Given the description of an element on the screen output the (x, y) to click on. 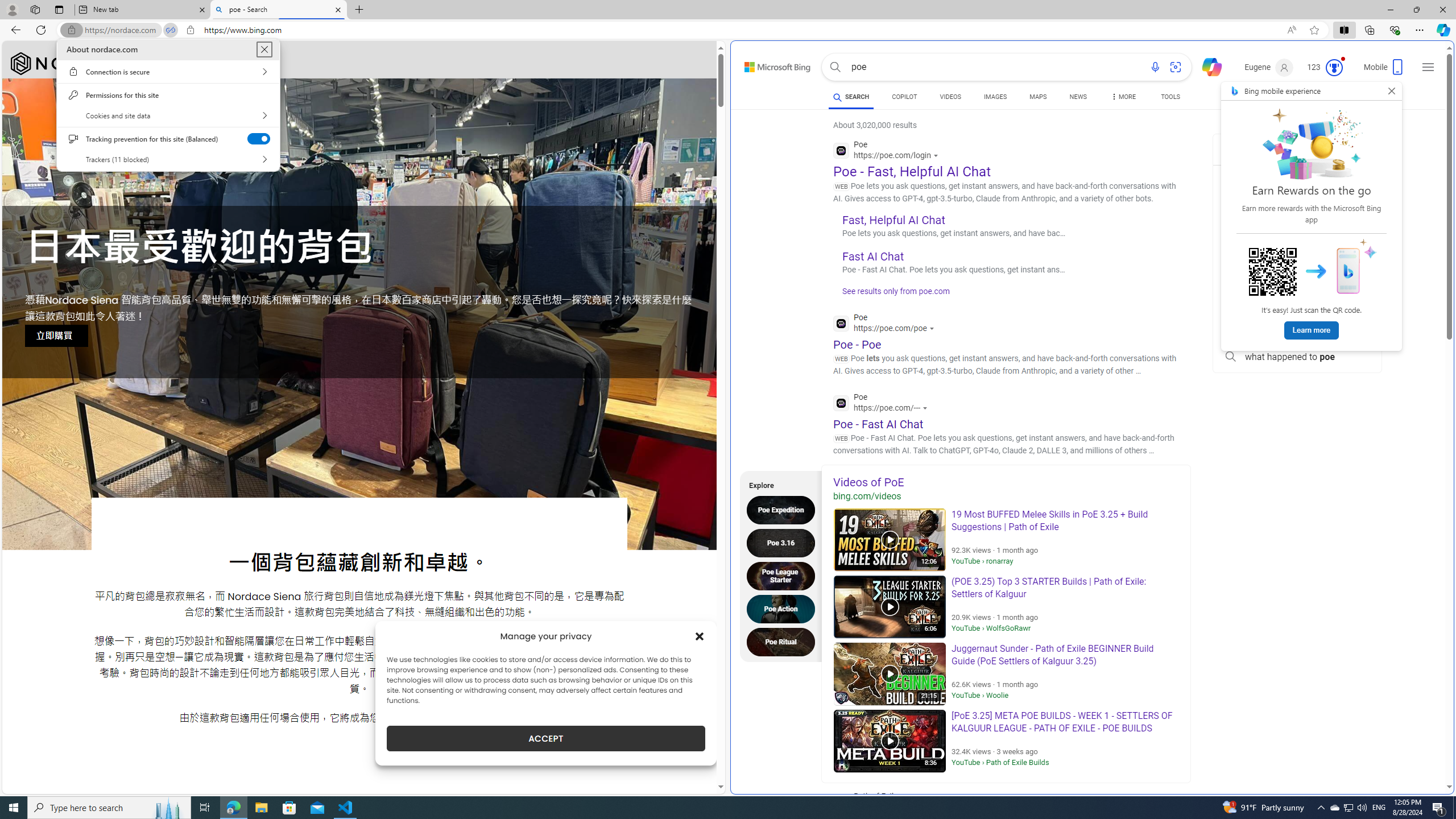
poe ++ standard (1297, 254)
Connection is secure (167, 71)
Dropdown Menu (1123, 96)
Mobile (1384, 70)
SEARCH (850, 96)
Chat (1207, 65)
Tracking prevention for this site (Balanced) (258, 138)
Poe - Fast, Helpful AI Chat (911, 170)
Learn more about Microsoft Bing app (1311, 330)
Permissions for this site (167, 94)
Poe - Poe (856, 344)
AutomationID: mfa_root (1406, 752)
